Given the description of an element on the screen output the (x, y) to click on. 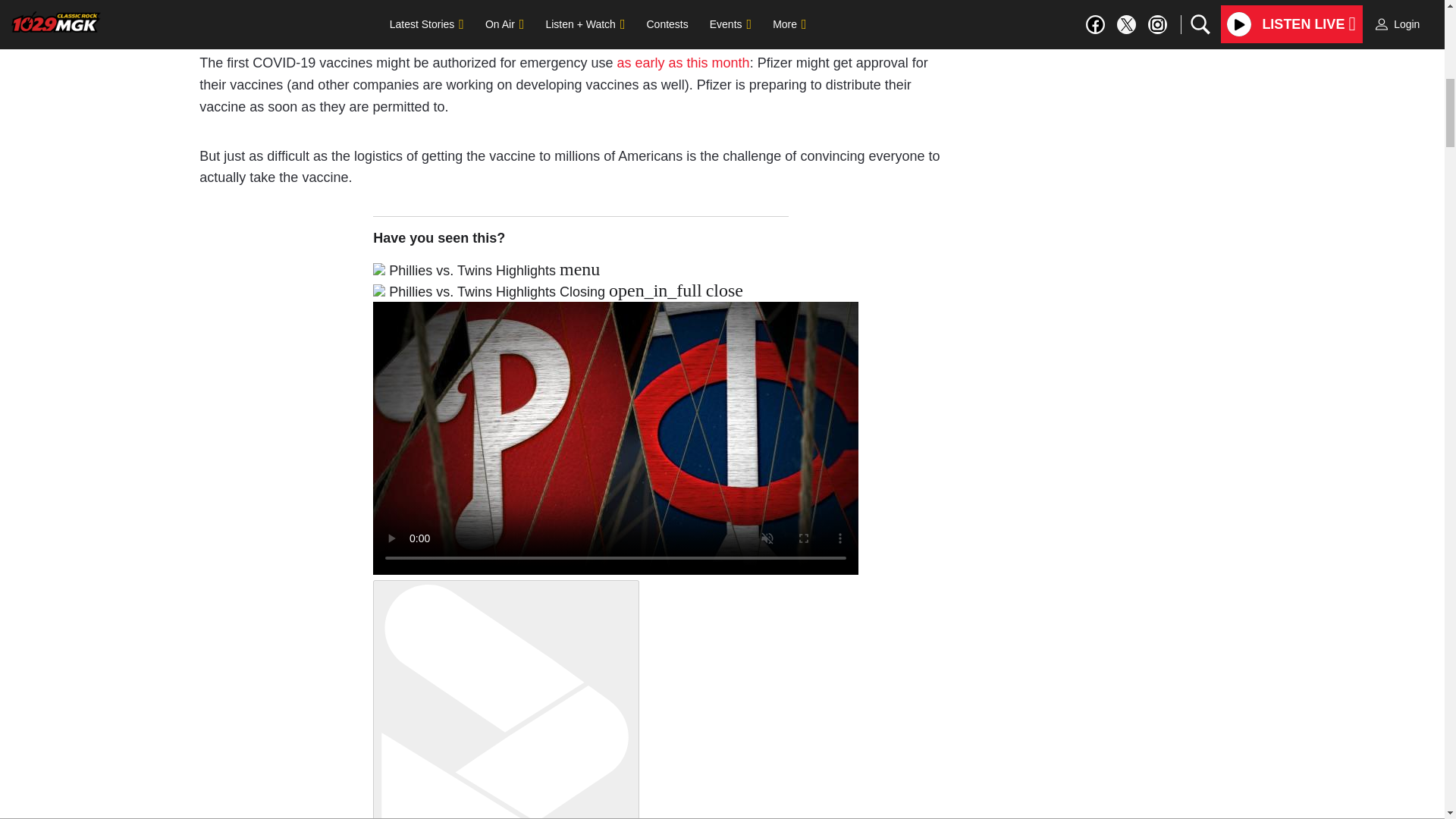
Close AdCheckmark indicating ad close (1434, 11)
